Given the description of an element on the screen output the (x, y) to click on. 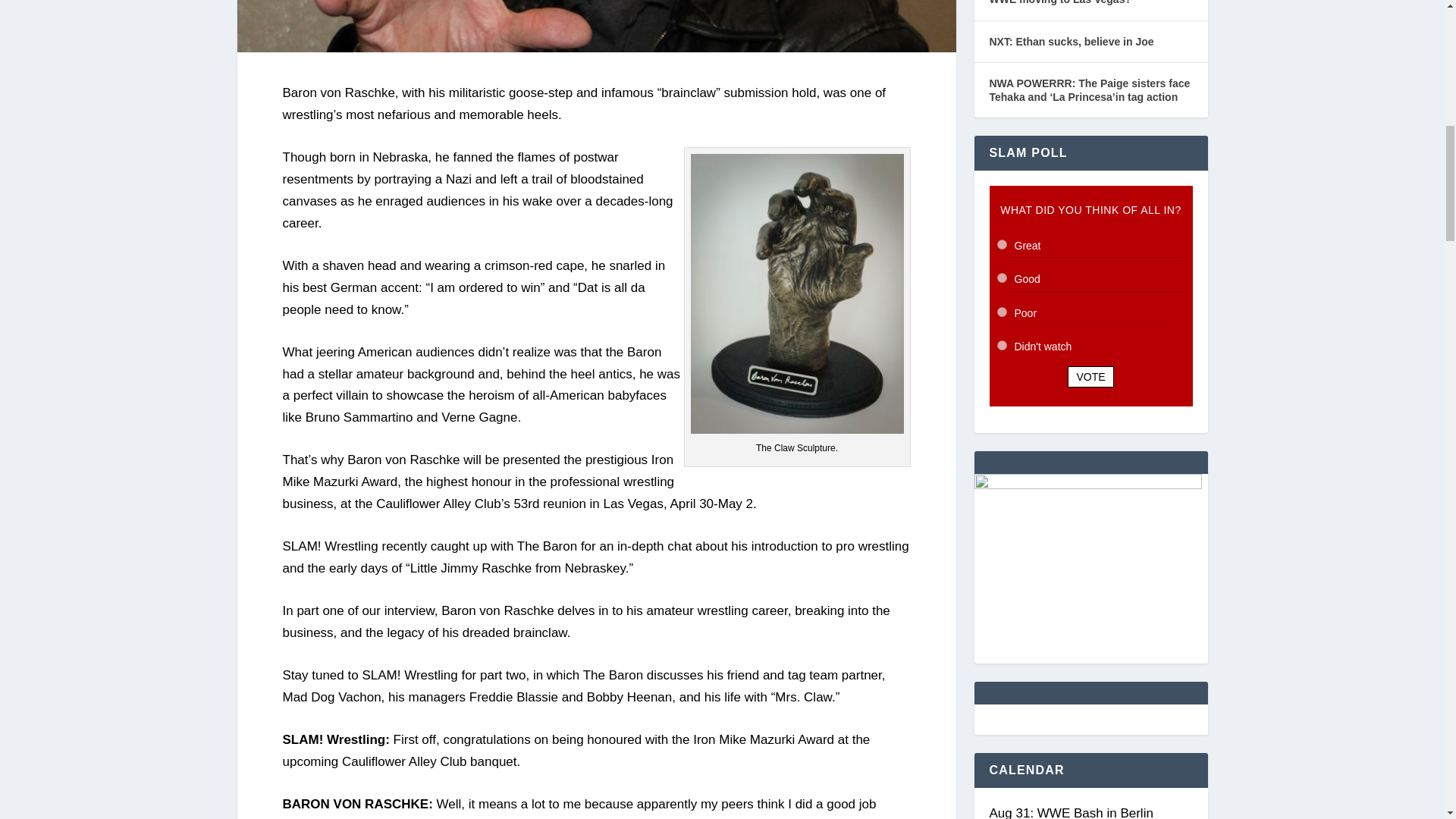
6509 (1000, 345)
6507 (1000, 277)
6506 (1000, 244)
6508 (1000, 311)
